Given the description of an element on the screen output the (x, y) to click on. 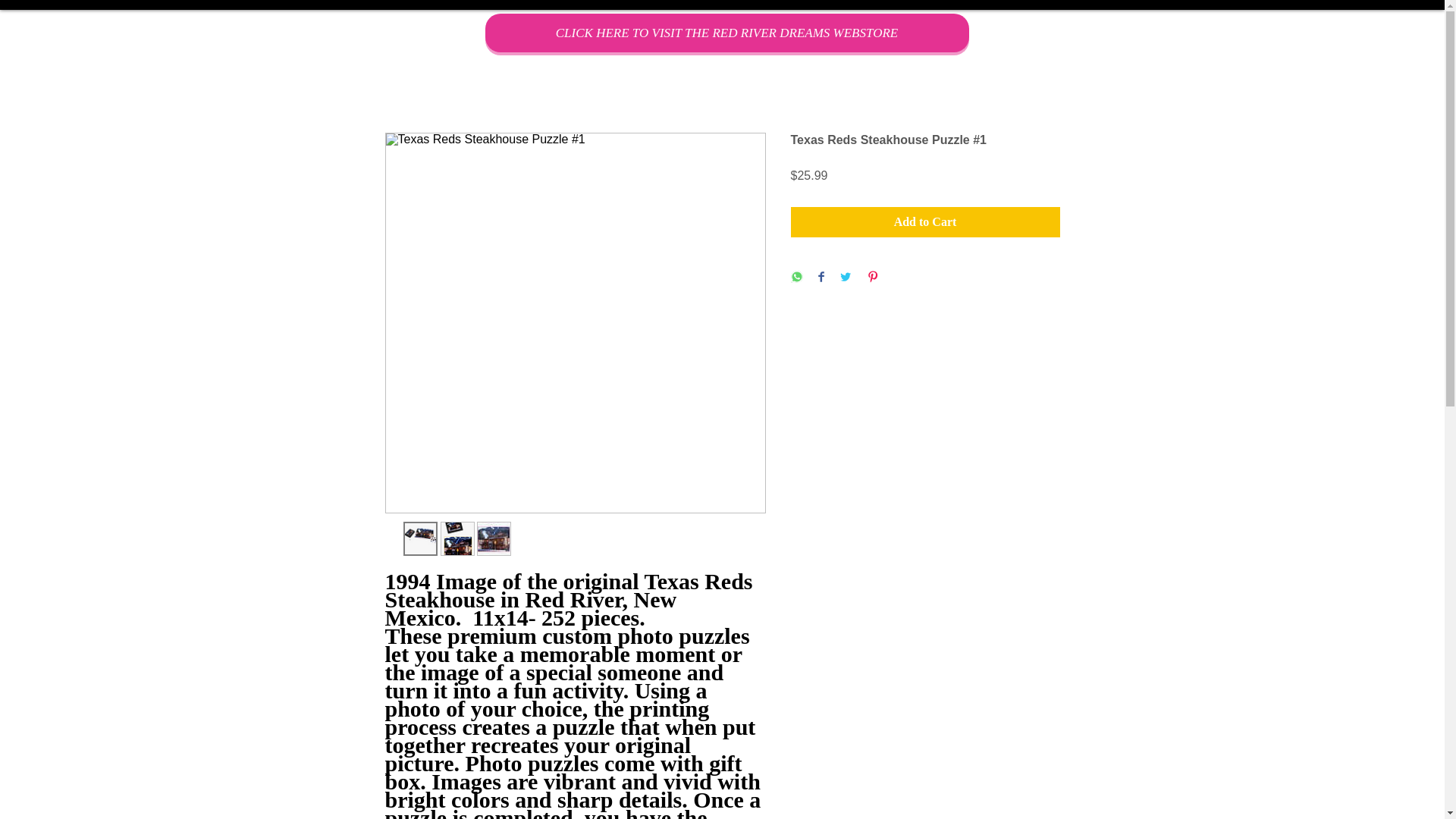
CLICK HERE TO VISIT THE RED RIVER DREAMS WEBSTORE (726, 32)
Add to Cart (924, 222)
